Given the description of an element on the screen output the (x, y) to click on. 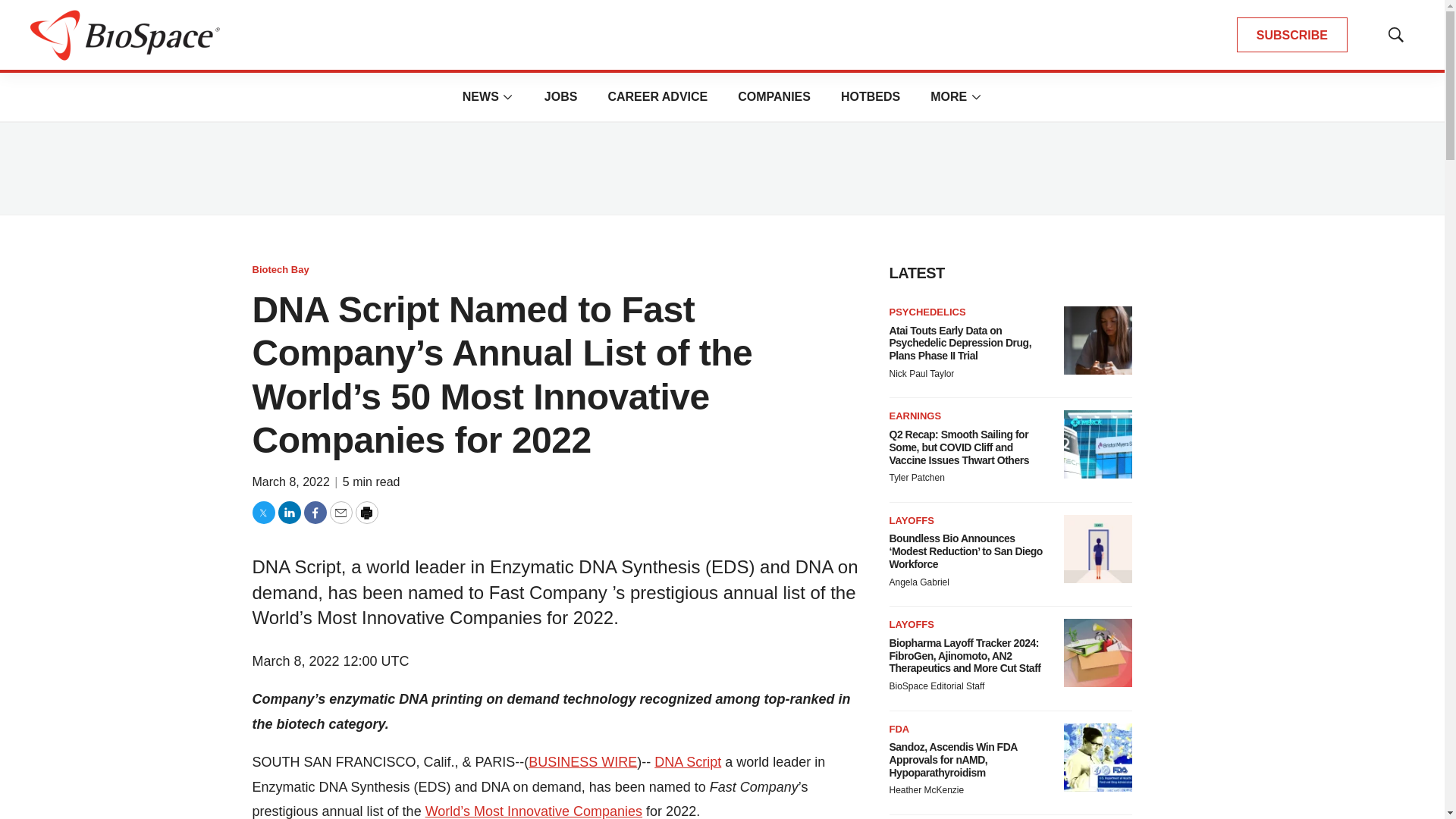
NEWS (481, 96)
SUBSCRIBE (1292, 34)
3rd party ad content (721, 168)
Show Search (1395, 34)
